Given the description of an element on the screen output the (x, y) to click on. 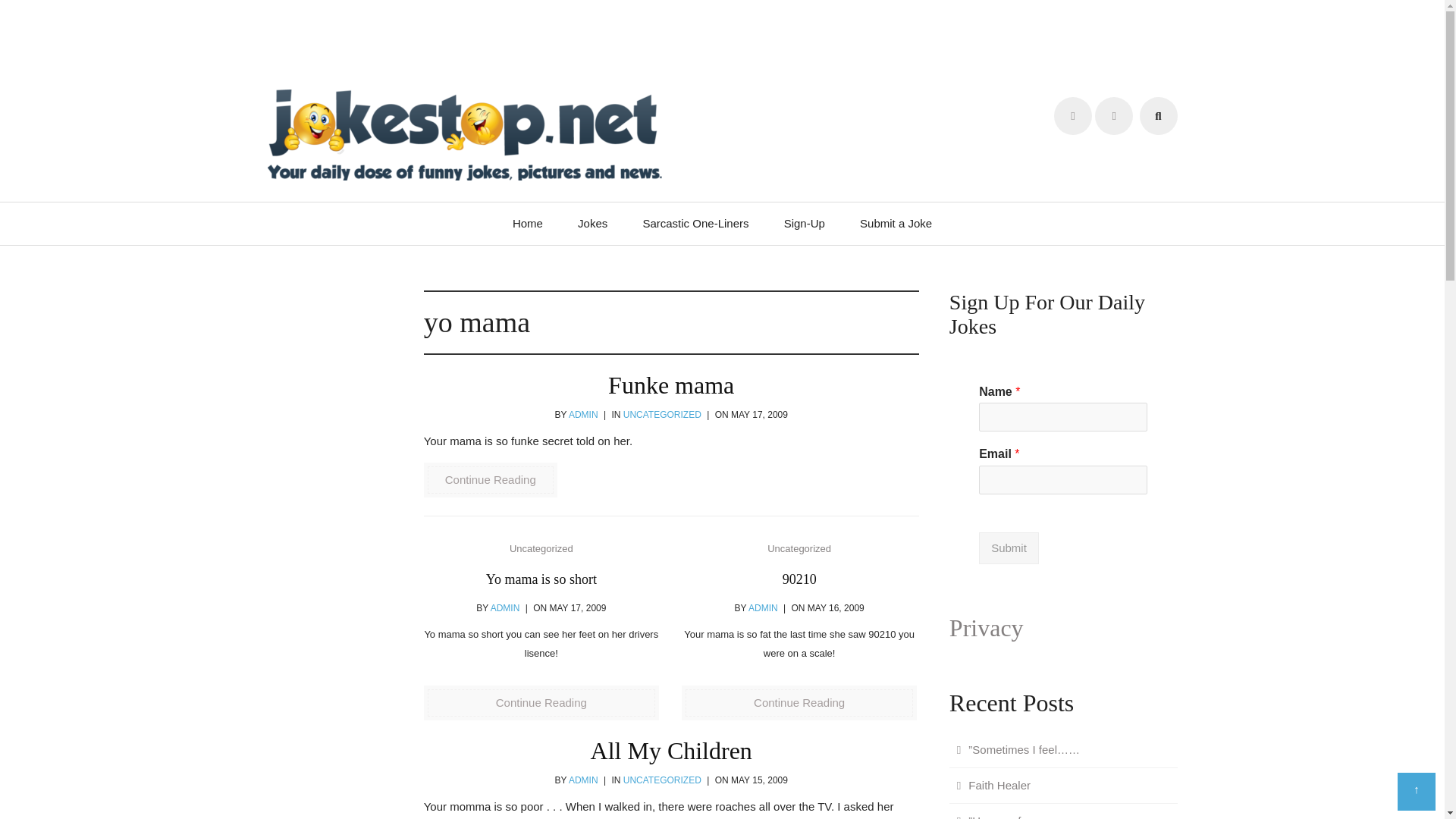
Uncategorized (799, 548)
Yo mama is so short (541, 579)
All My Children (671, 750)
Sarcastic One-Liners (695, 223)
Sign-Up (804, 223)
Continue Reading (799, 702)
Home (527, 223)
ADMIN (762, 607)
90210 (799, 579)
ADMIN (583, 779)
ADMIN (504, 607)
UNCATEGORIZED (662, 779)
Continue Reading (490, 479)
Jokes (592, 223)
Funke mama (670, 384)
